Given the description of an element on the screen output the (x, y) to click on. 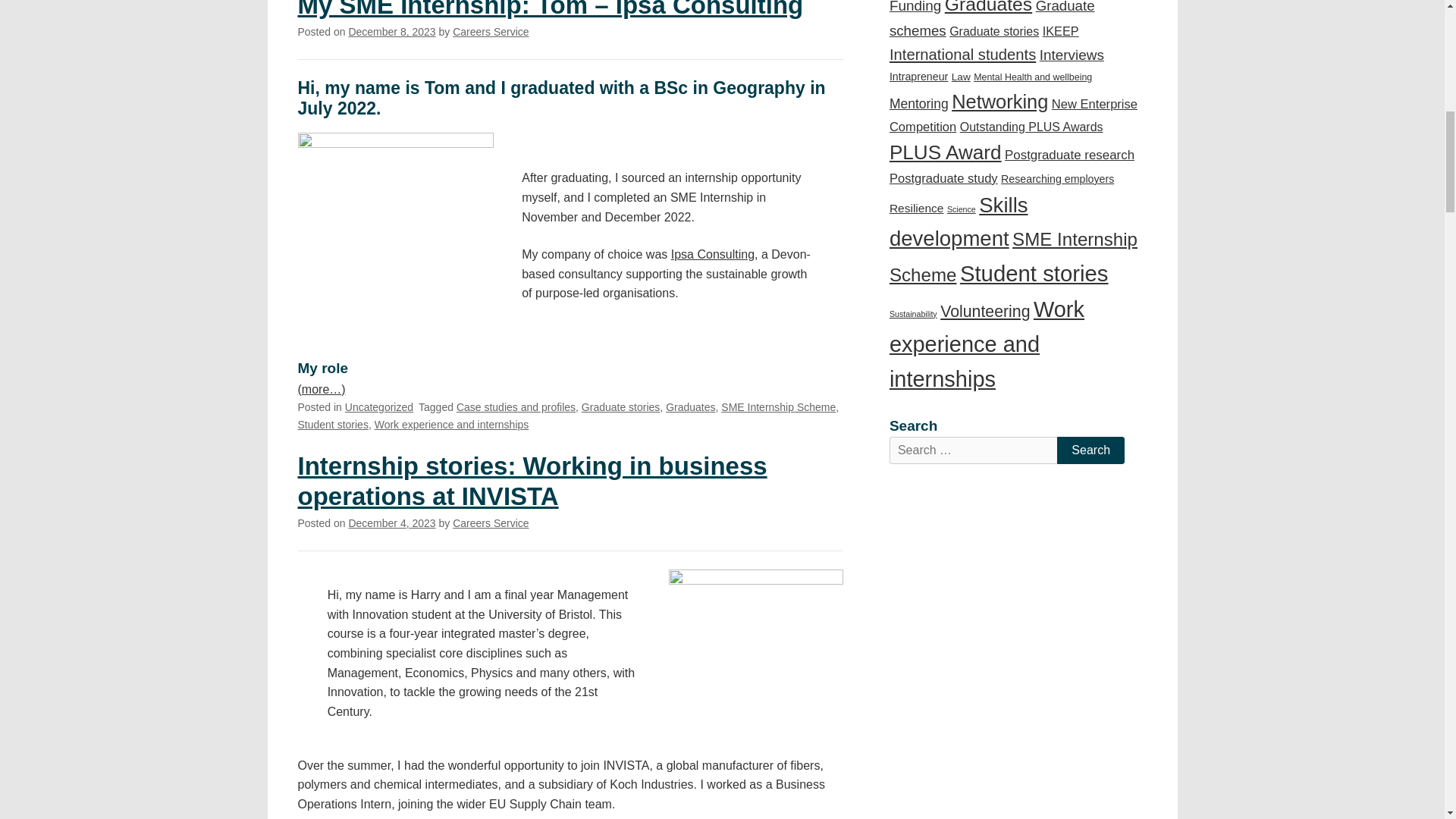
December 8, 2023 (391, 31)
Student stories (332, 424)
Uncategorized (379, 407)
December 4, 2023 (391, 522)
SME Internship Scheme (777, 407)
Careers Service (490, 31)
Ipsa Consulting (712, 254)
Graduate stories (620, 407)
Graduates (689, 407)
Work experience and internships (451, 424)
Search (1090, 450)
Search (1090, 450)
Careers Service (490, 522)
Case studies and profiles (516, 407)
